Given the description of an element on the screen output the (x, y) to click on. 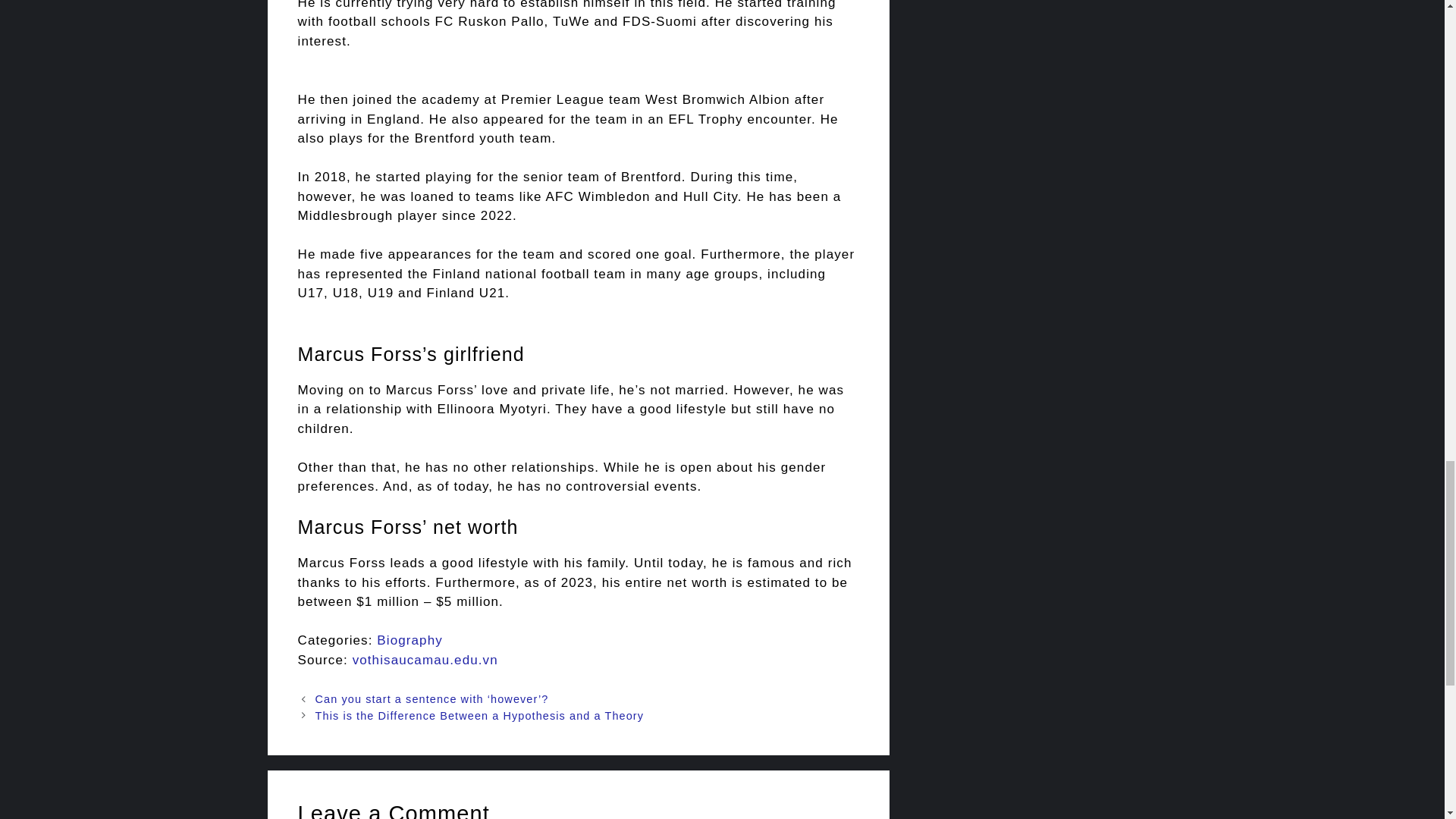
This is the Difference Between a Hypothesis and a Theory (479, 715)
vothisaucamau.edu.vn (424, 659)
Biography (409, 640)
